Given the description of an element on the screen output the (x, y) to click on. 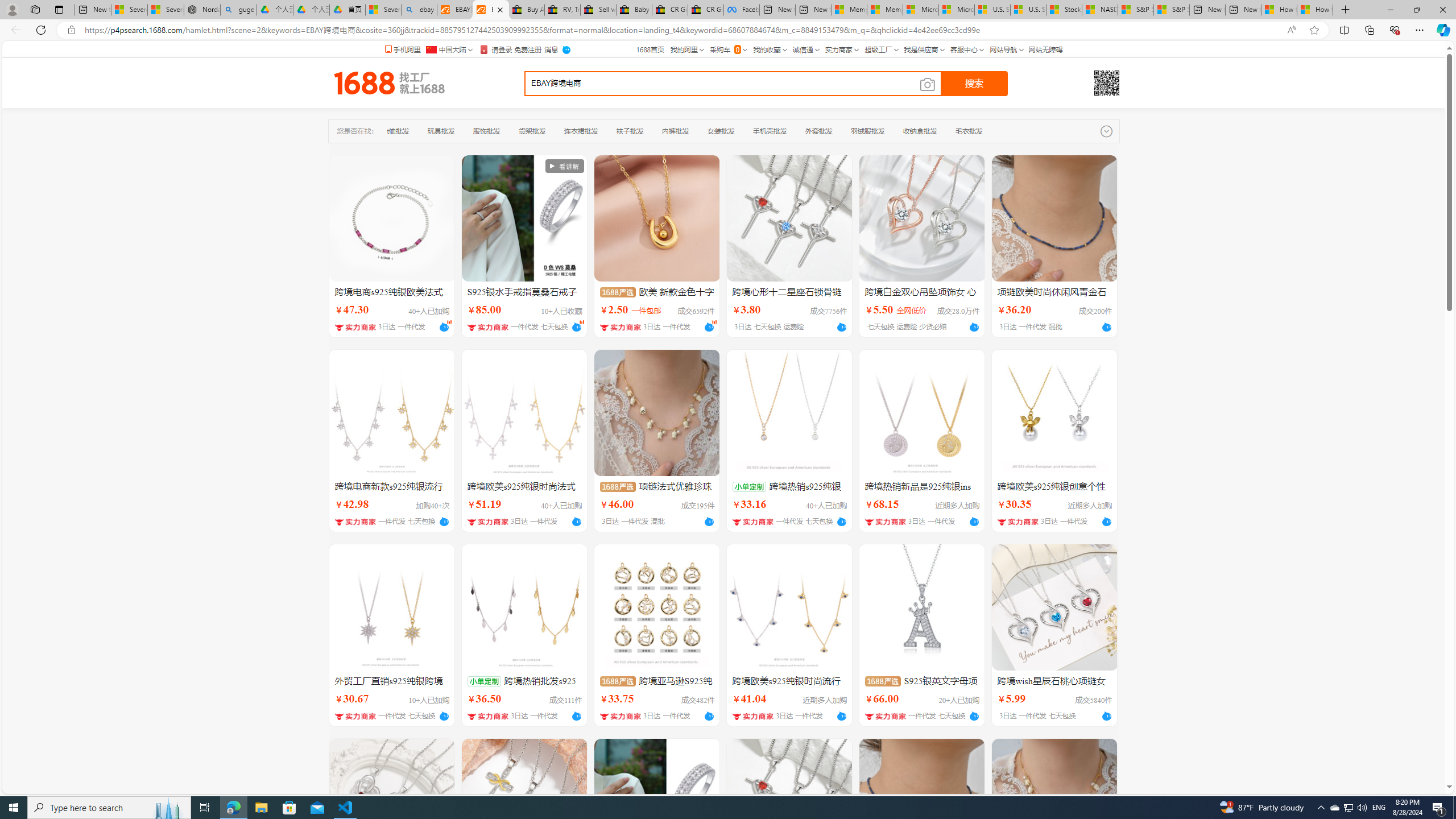
guge yunpan - Search (238, 9)
